Given the description of an element on the screen output the (x, y) to click on. 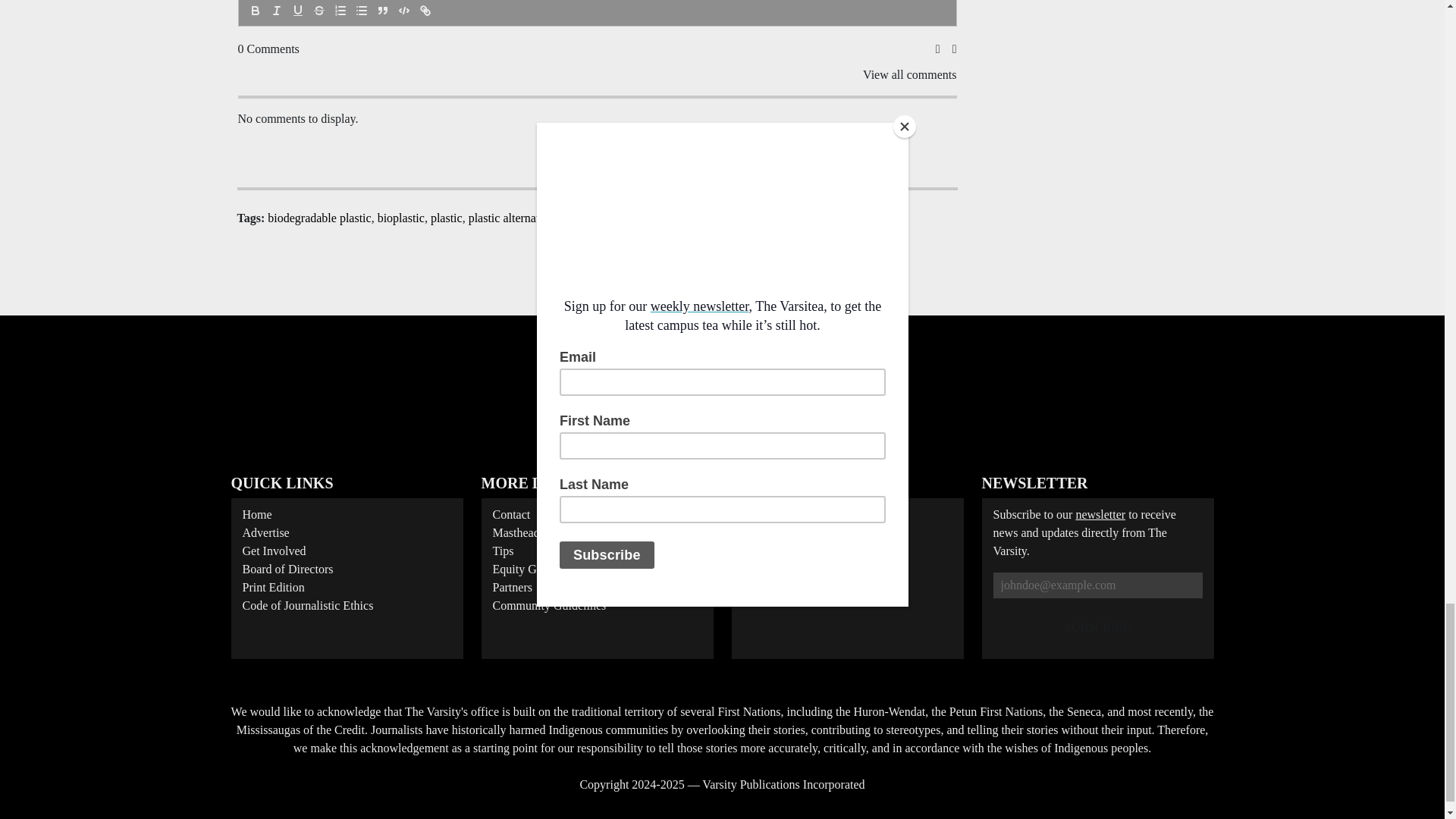
Bold (254, 10)
Code Block (403, 10)
Subscribe (1097, 627)
Ordered List (339, 10)
Underline (296, 10)
Italic (275, 10)
Unordered List (360, 10)
Strike (318, 10)
Link (424, 10)
Blockquote (382, 10)
